Given the description of an element on the screen output the (x, y) to click on. 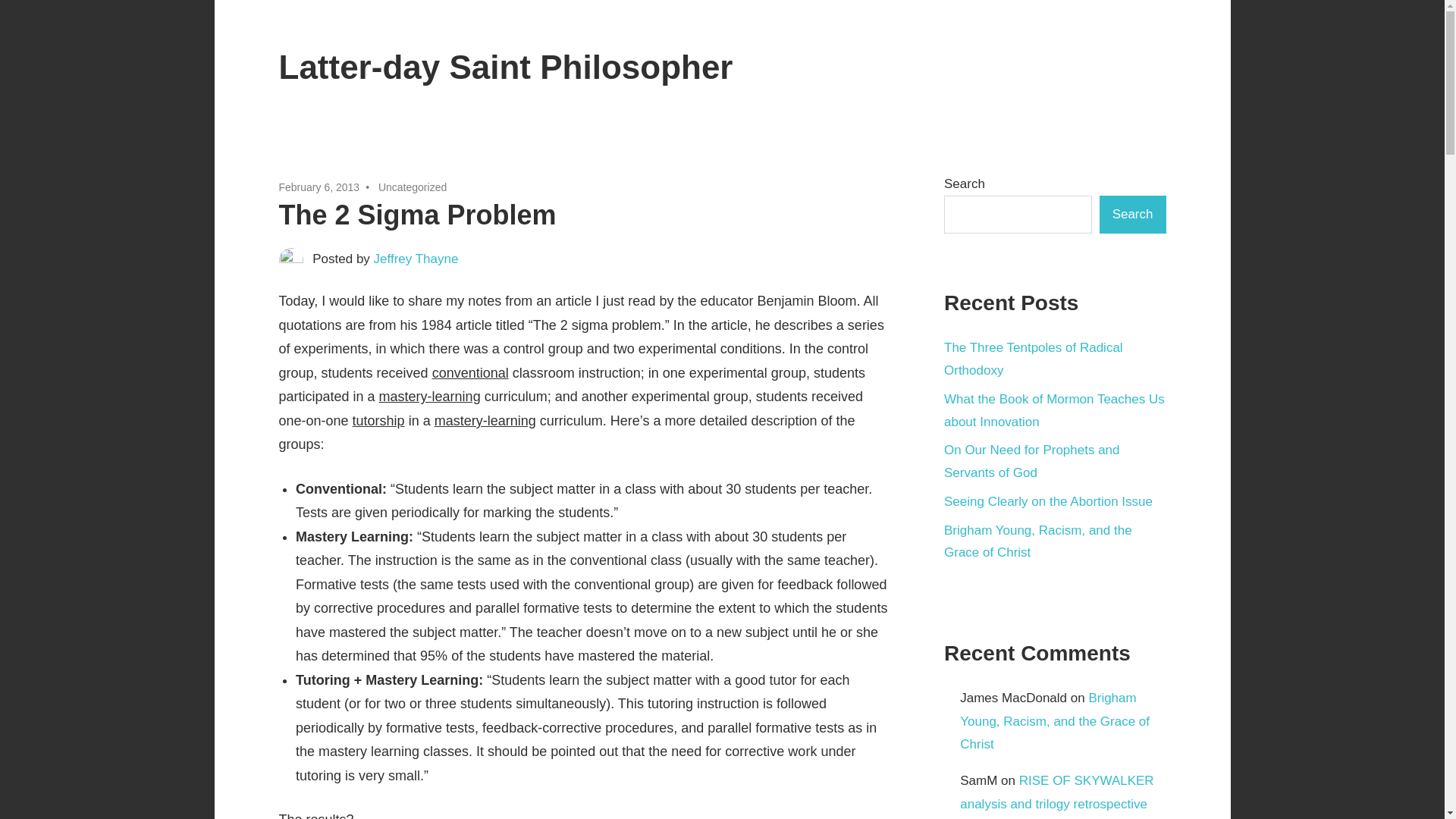
Uncategorized (412, 186)
On Our Need for Prophets and Servants of God (1031, 461)
What the Book of Mormon Teaches Us about Innovation (1053, 410)
View all posts by Jeffrey Thayne (416, 258)
Brigham Young, Racism, and the Grace of Christ (1054, 721)
Brigham Young, Racism, and the Grace of Christ (1037, 541)
Jeffrey Thayne (416, 258)
February 6, 2013 (319, 186)
RISE OF SKYWALKER analysis and trilogy retrospective (1056, 792)
6:01 pm (319, 186)
